Given the description of an element on the screen output the (x, y) to click on. 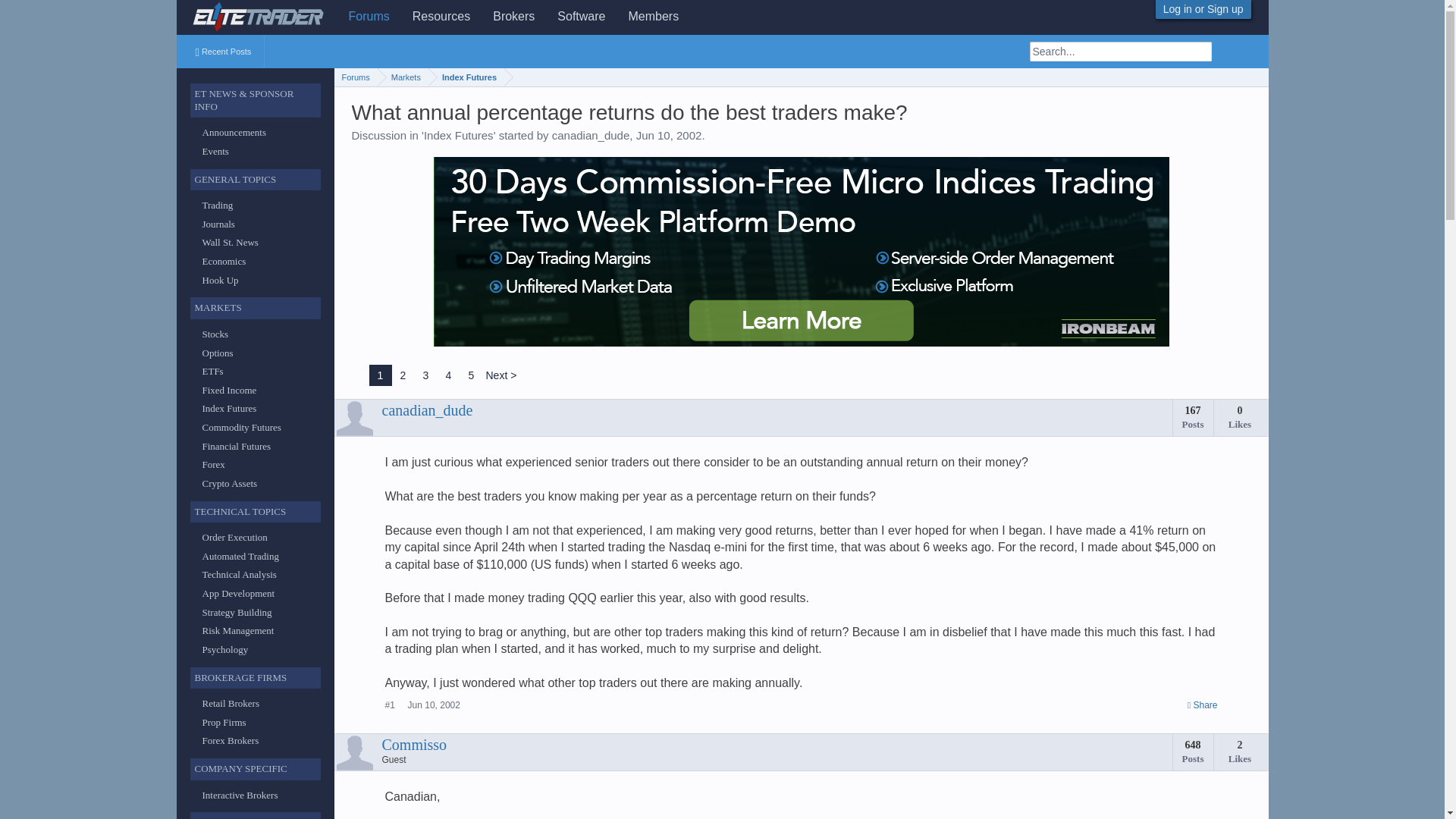
Trading (217, 204)
ETFs (212, 370)
Automated Trading (240, 555)
Jun 10, 2002 at 11:48 AM (668, 134)
Financial Futures (236, 446)
App Development (238, 593)
Log in or Sign up (1203, 9)
Prop Firms (224, 722)
Retail Brokers (230, 703)
Strategy Building (236, 612)
Permalink (1202, 705)
Options (217, 352)
Forex Brokers (230, 740)
Forex (213, 464)
Psychology (224, 649)
